Given the description of an element on the screen output the (x, y) to click on. 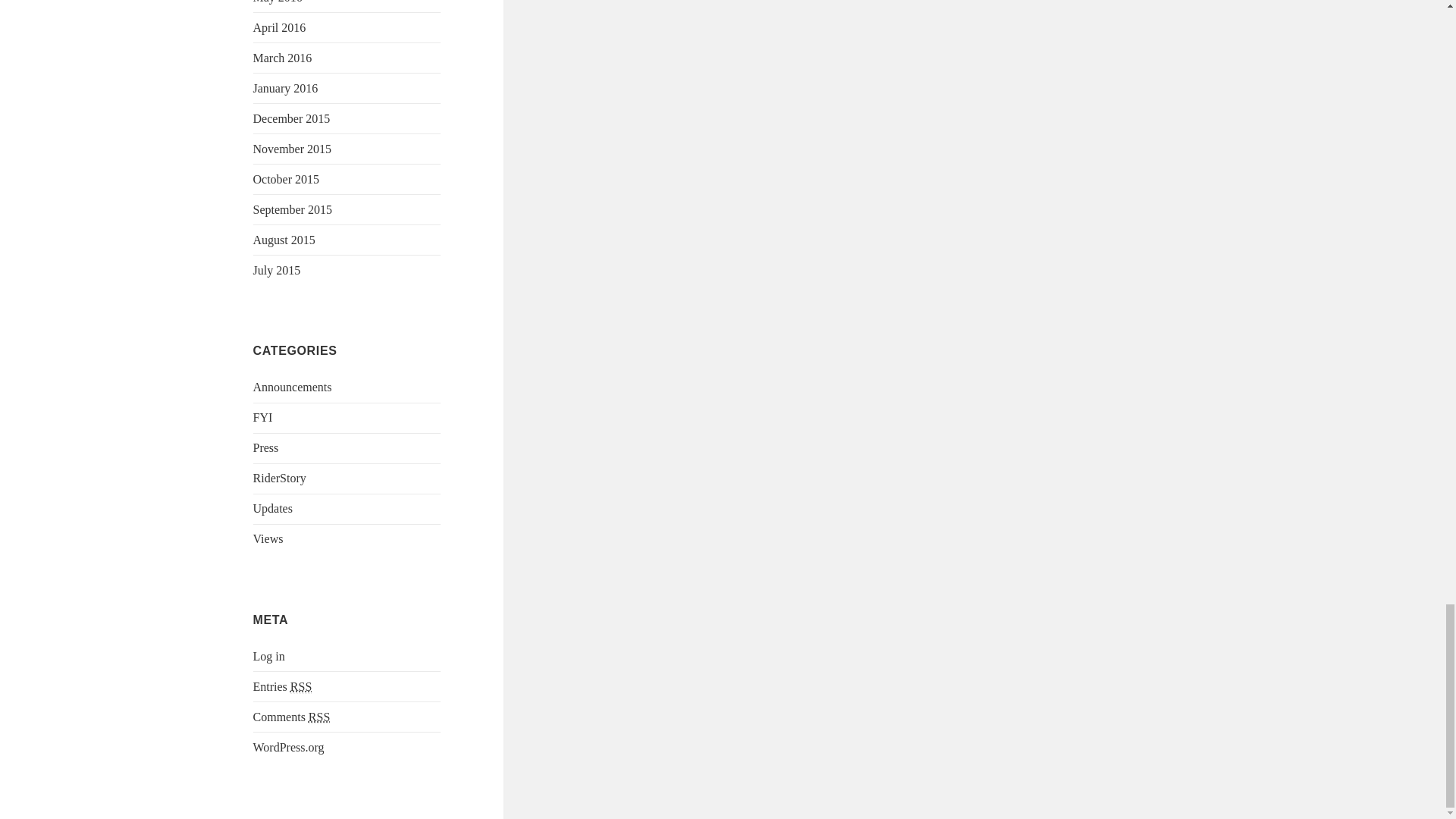
Really Simple Syndication (319, 716)
Really Simple Syndication (300, 686)
